Given the description of an element on the screen output the (x, y) to click on. 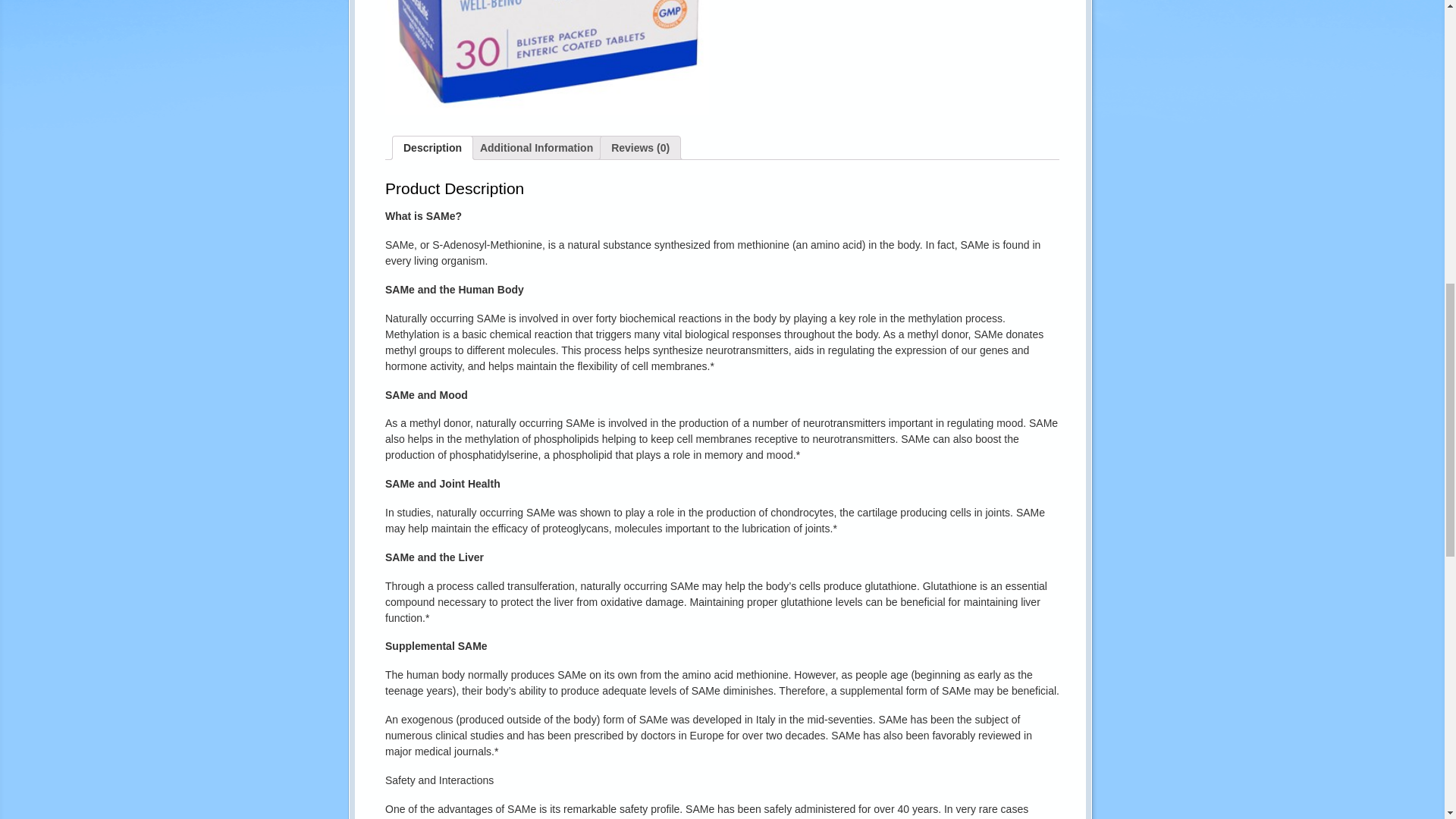
Additional Information (536, 147)
Description (432, 147)
same302 (547, 57)
